Given the description of an element on the screen output the (x, y) to click on. 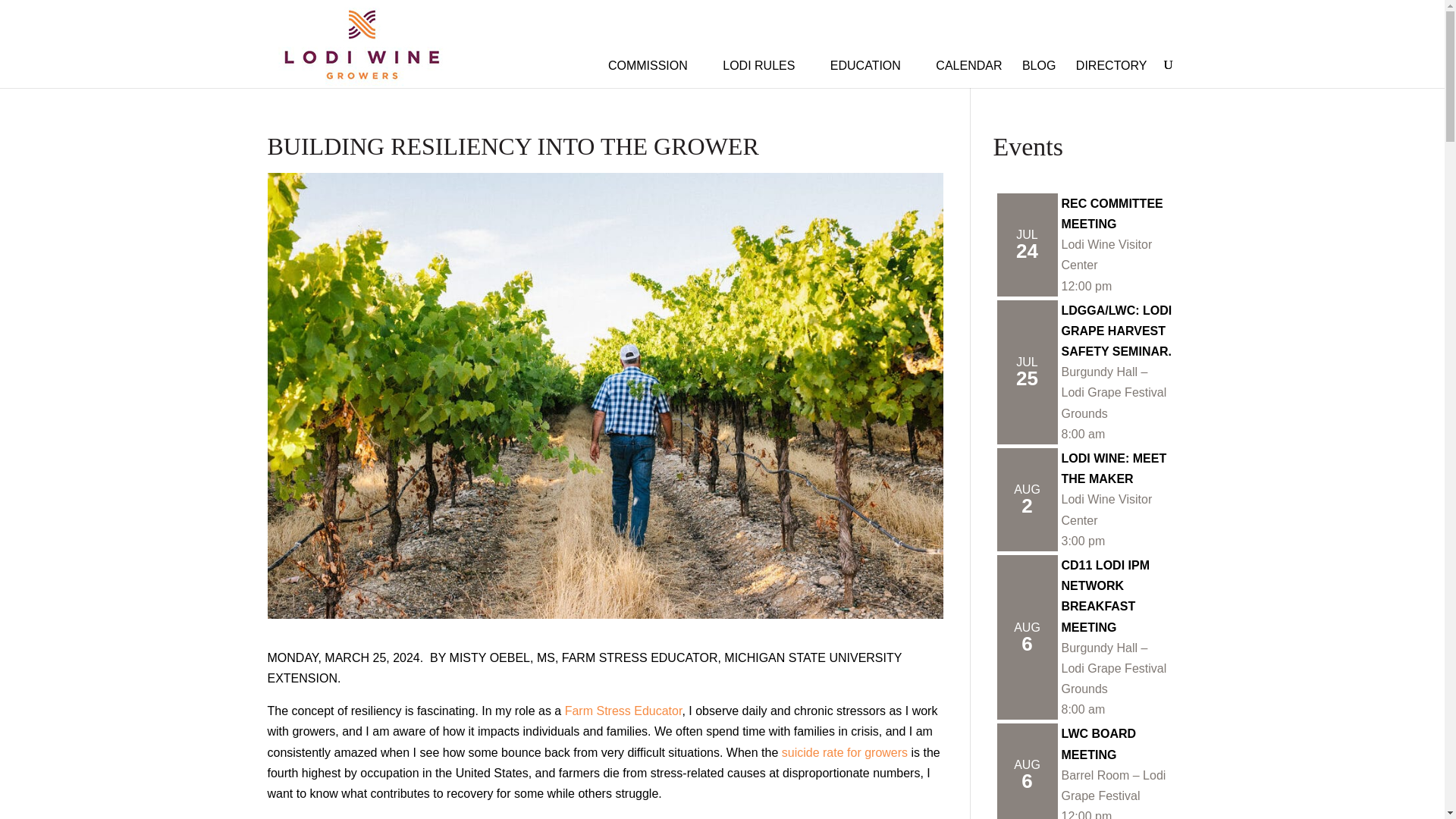
LODI RULES (765, 62)
EDUCATION (872, 62)
DIRECTORY (1111, 62)
CALENDAR (968, 62)
COMMISSION (655, 62)
